Given the description of an element on the screen output the (x, y) to click on. 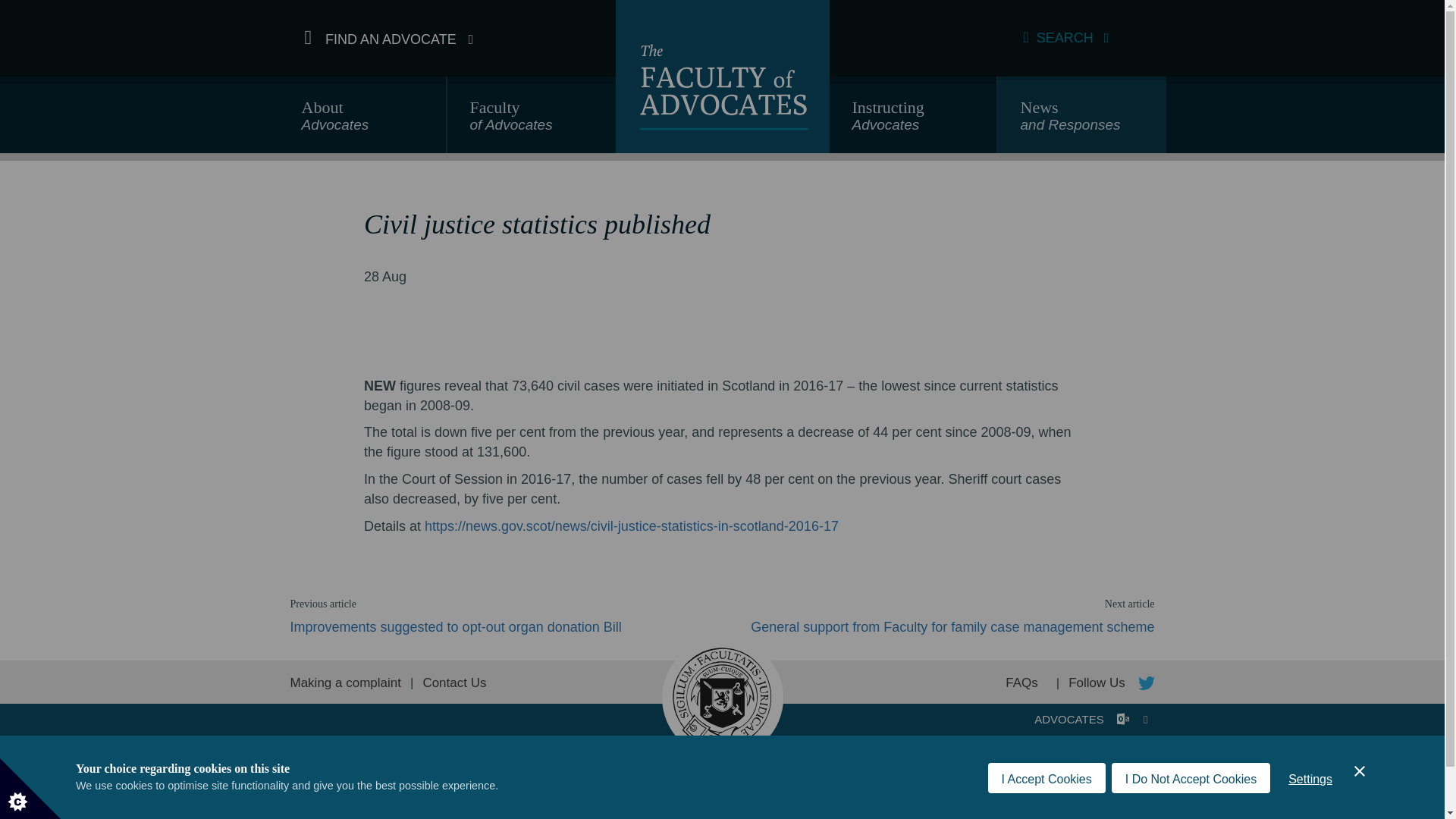
FIND AN ADVOCATE (912, 122)
SEARCH (389, 38)
I Do Not Accept Cookies (1066, 38)
Outlook (1190, 791)
I Accept Cookies (362, 122)
Settings (1122, 718)
